Given the description of an element on the screen output the (x, y) to click on. 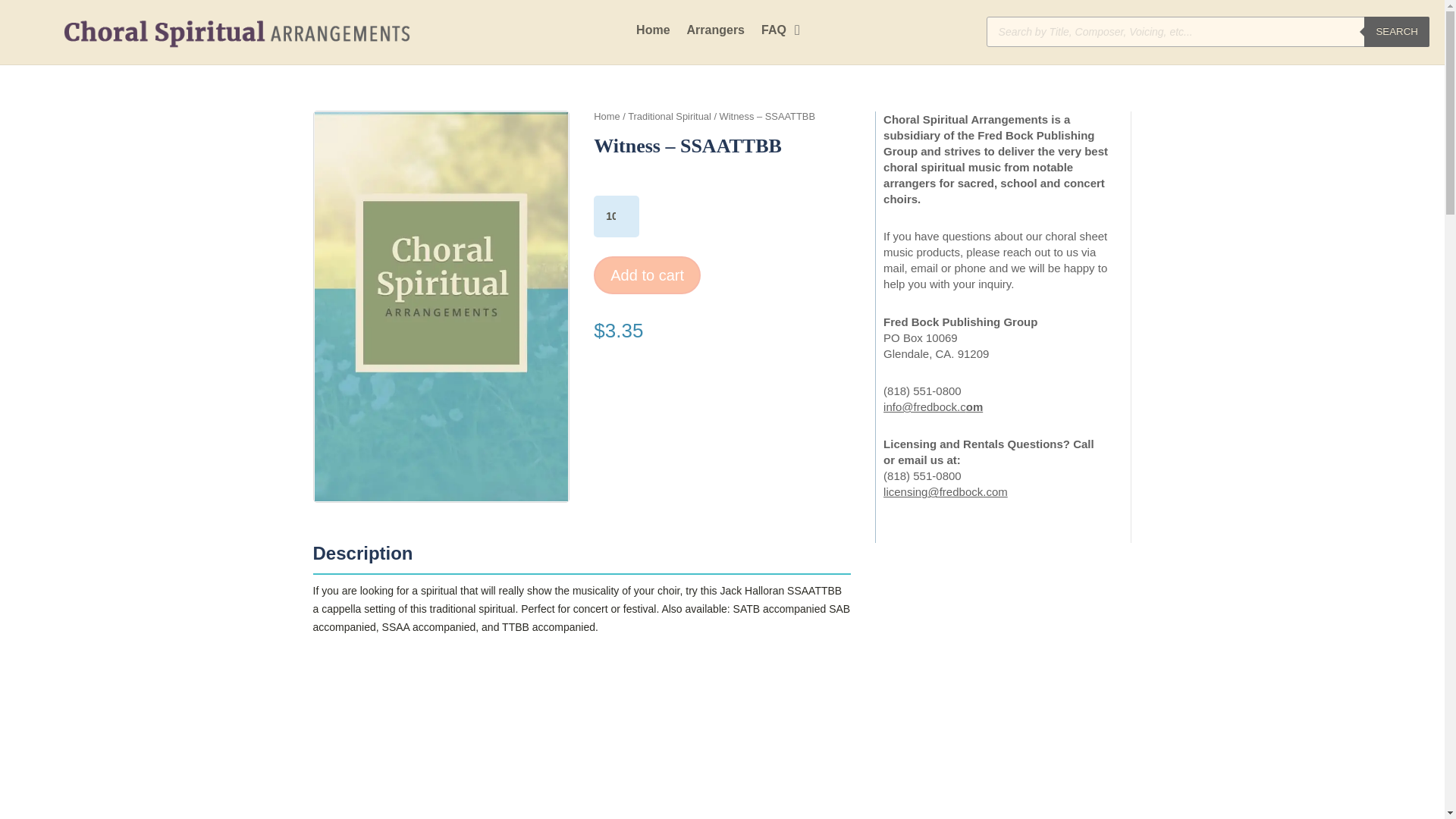
Arrangers (715, 33)
Choral-Spiritual-Arrangements-Text-for-Navigation (237, 33)
SEARCH (1396, 31)
Traditional Spiritual (669, 116)
Add to cart (647, 275)
Home (607, 116)
10 (616, 216)
Home (652, 33)
FAQ (773, 33)
Youtube video player (581, 738)
